Given the description of an element on the screen output the (x, y) to click on. 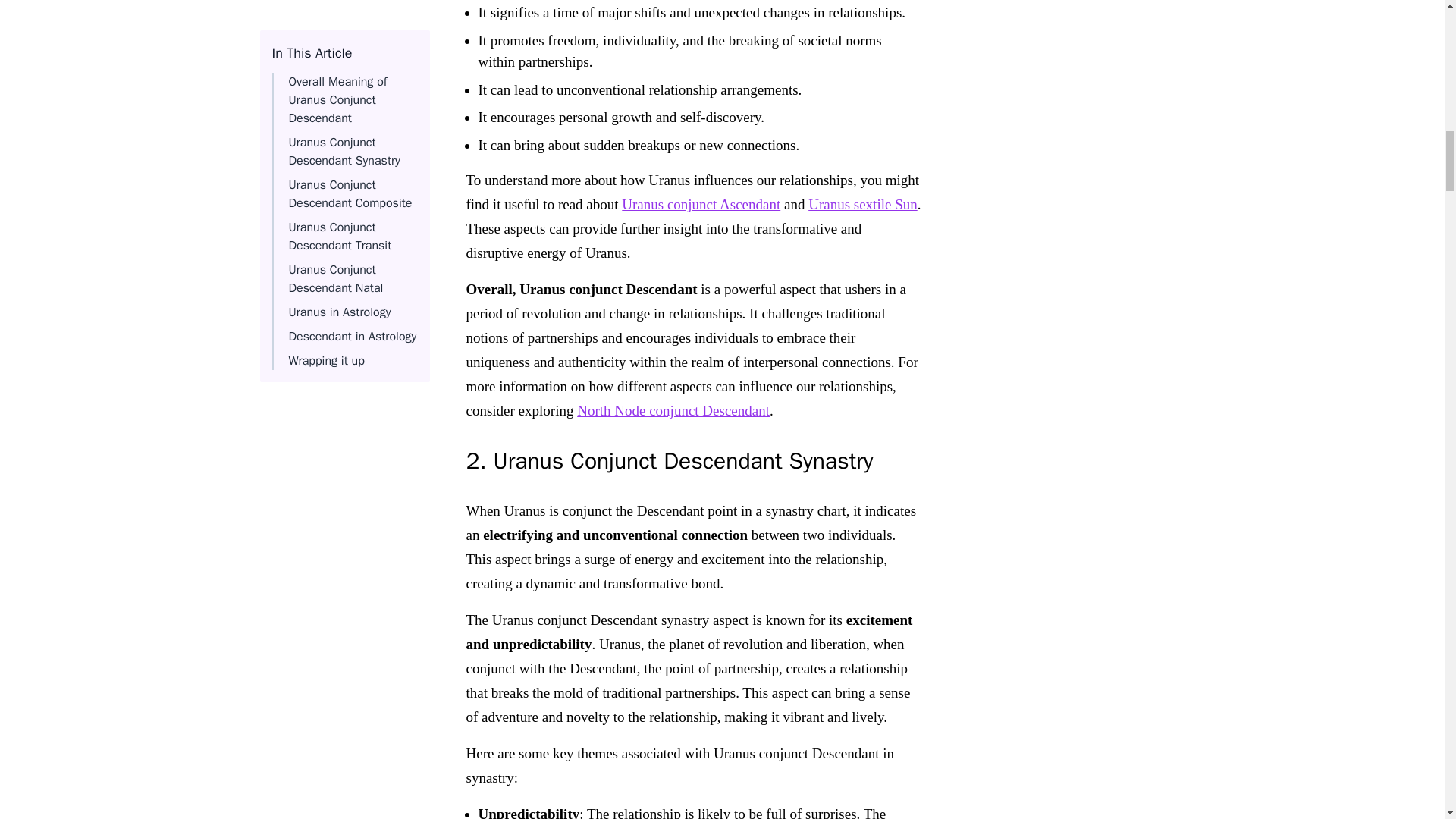
North Node conjunct Descendant (673, 410)
Uranus sextile Sun (862, 204)
Uranus conjunct Ascendant (700, 204)
